Given the description of an element on the screen output the (x, y) to click on. 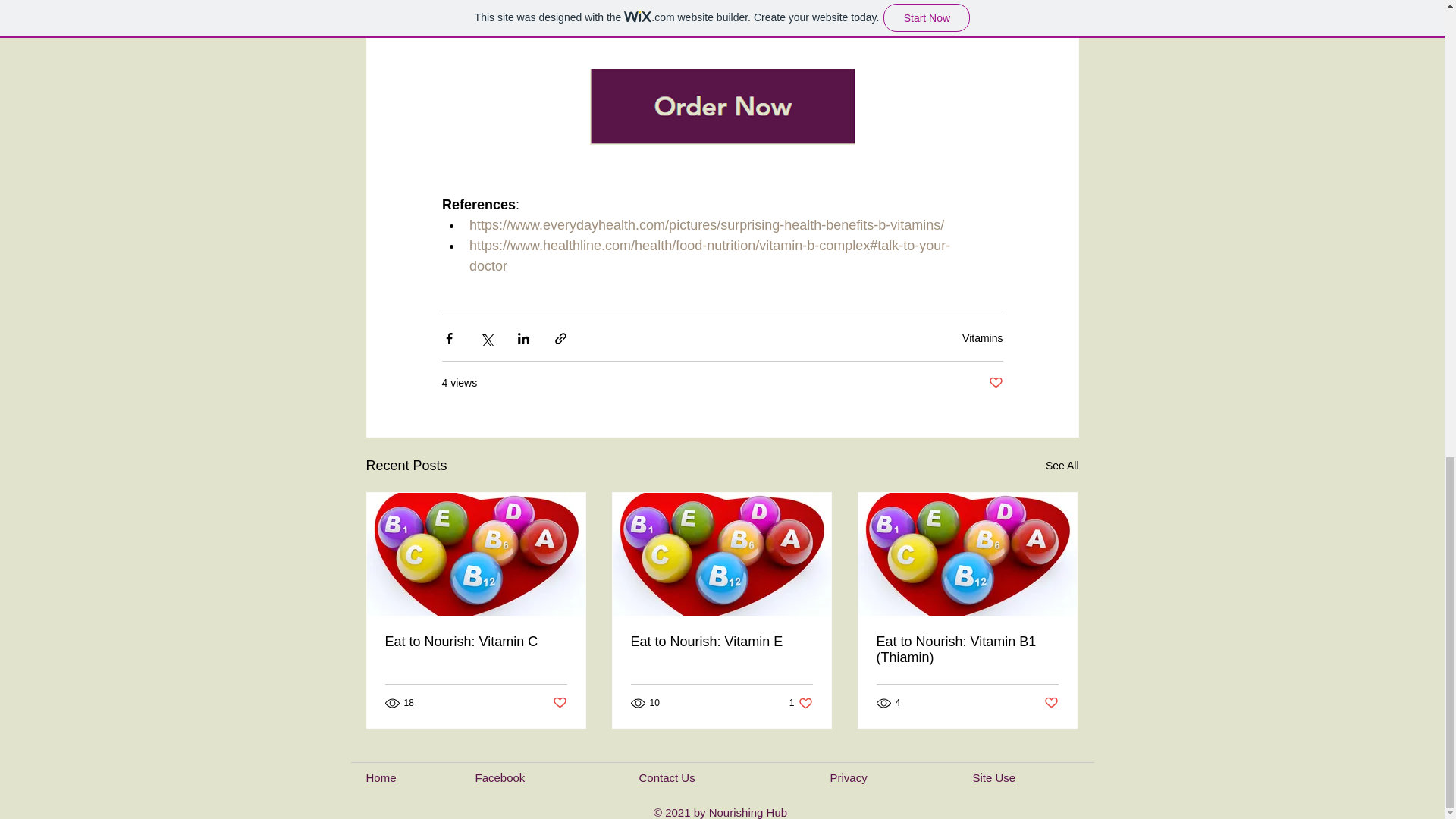
See All (1061, 465)
Vitamins (982, 337)
Site Use (993, 777)
Eat to Nourish: Vitamin E (721, 641)
Post not marked as liked (1050, 702)
Home (380, 777)
Eat to Nourish: Vitamin C (476, 641)
Facebook (499, 777)
Post not marked as liked (558, 702)
Contact Us (666, 777)
